Given the description of an element on the screen output the (x, y) to click on. 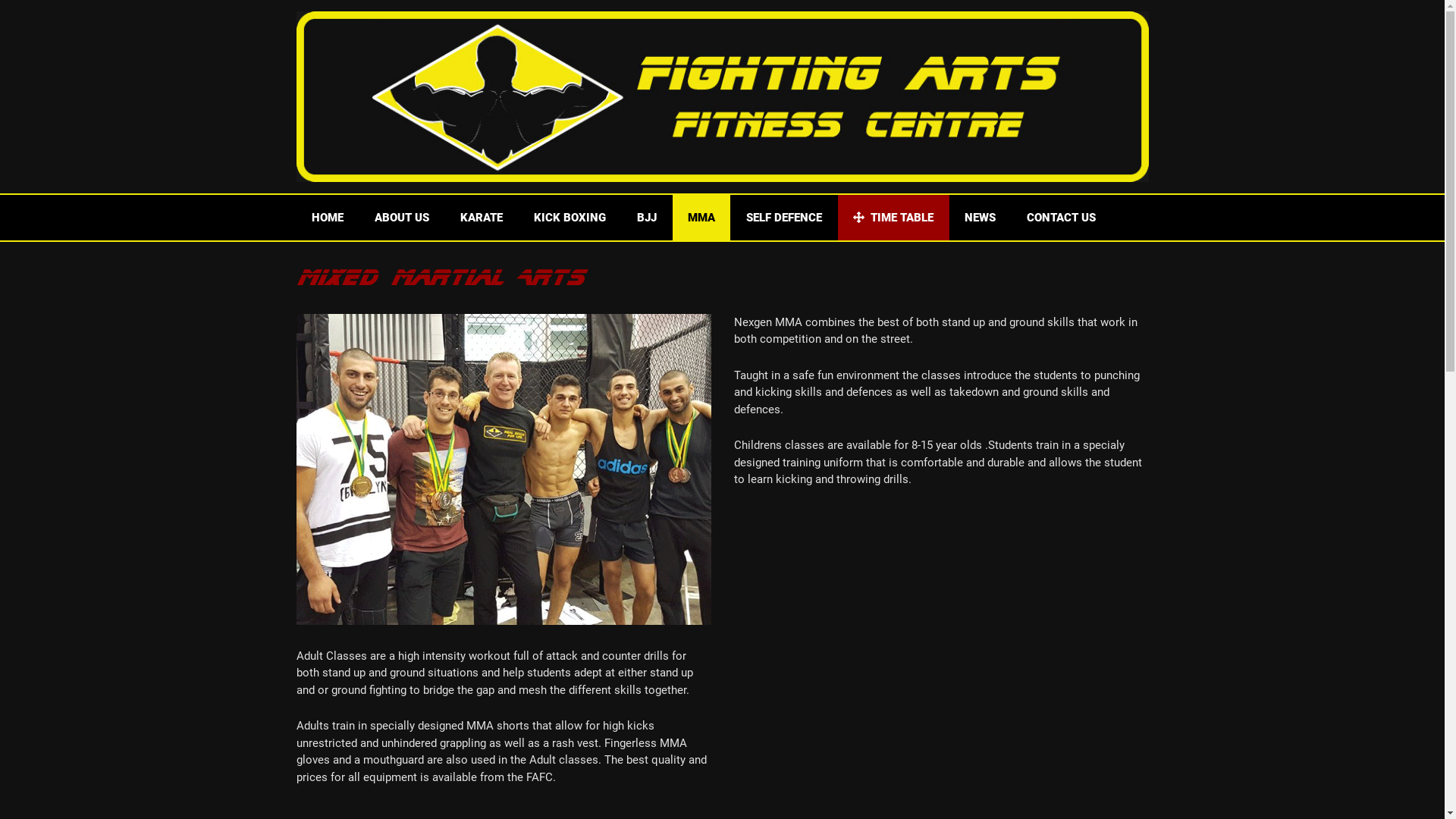
MMA Element type: text (700, 217)
KICK BOXING Element type: text (569, 217)
KARATE Element type: text (480, 217)
CONTACT US Element type: text (1060, 217)
ABOUT US Element type: text (401, 217)
HOME Element type: text (326, 217)
BJJ Element type: text (646, 217)
TIME TABLE Element type: text (892, 217)
SELF DEFENCE Element type: text (784, 217)
NEWS Element type: text (979, 217)
